Given the description of an element on the screen output the (x, y) to click on. 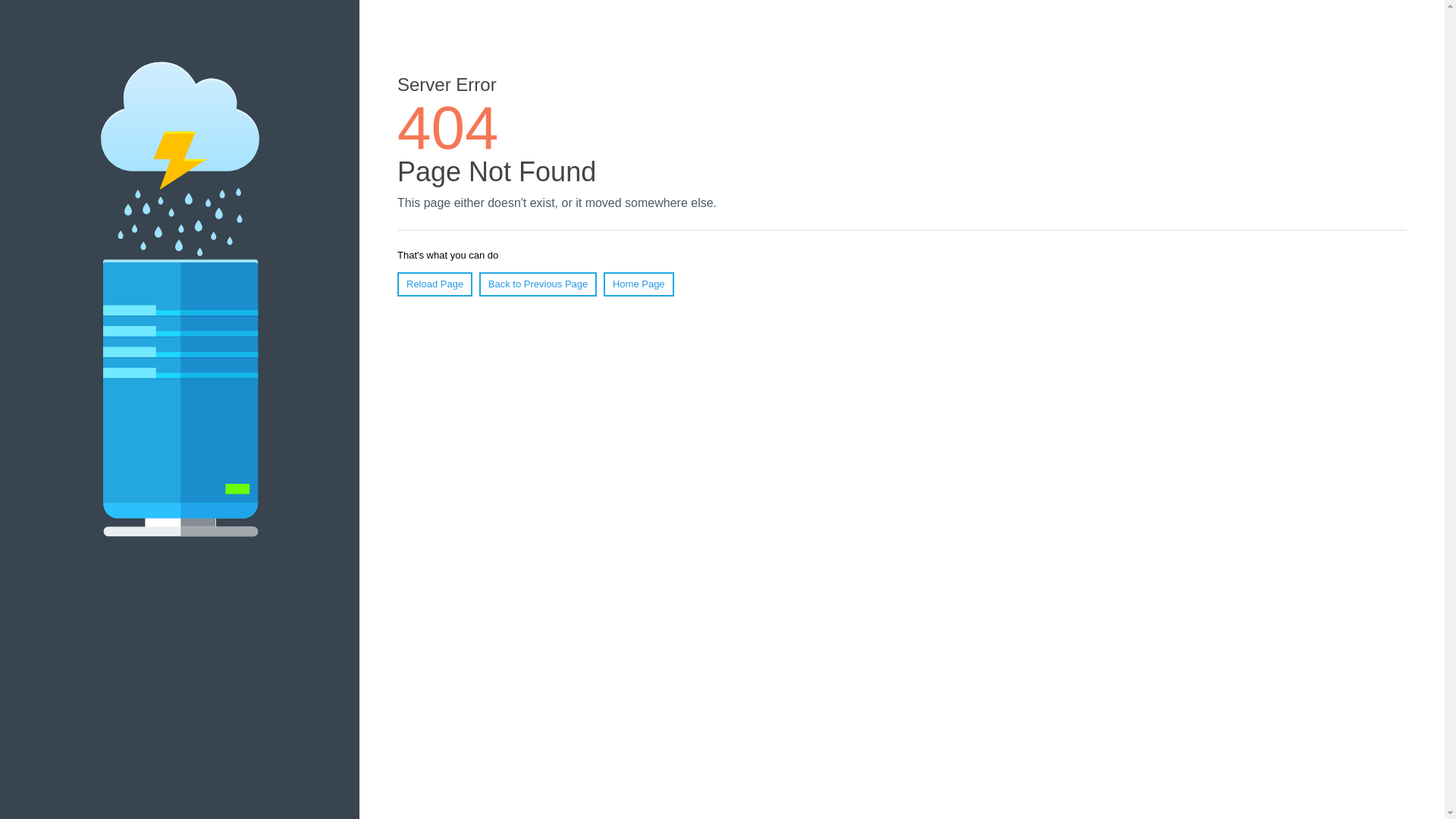
Home Page Element type: text (638, 284)
Back to Previous Page Element type: text (538, 284)
Reload Page Element type: text (434, 284)
